Given the description of an element on the screen output the (x, y) to click on. 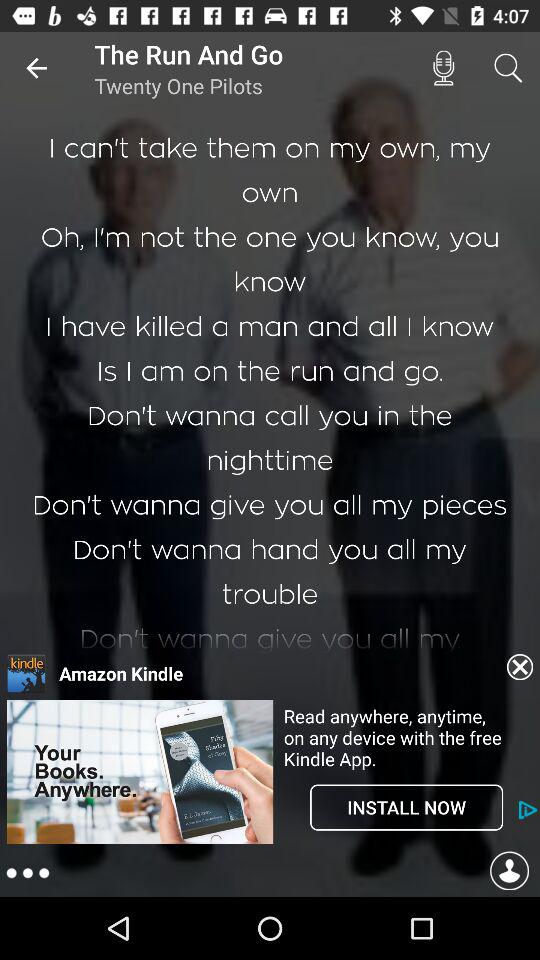
open advertisement (139, 771)
